Given the description of an element on the screen output the (x, y) to click on. 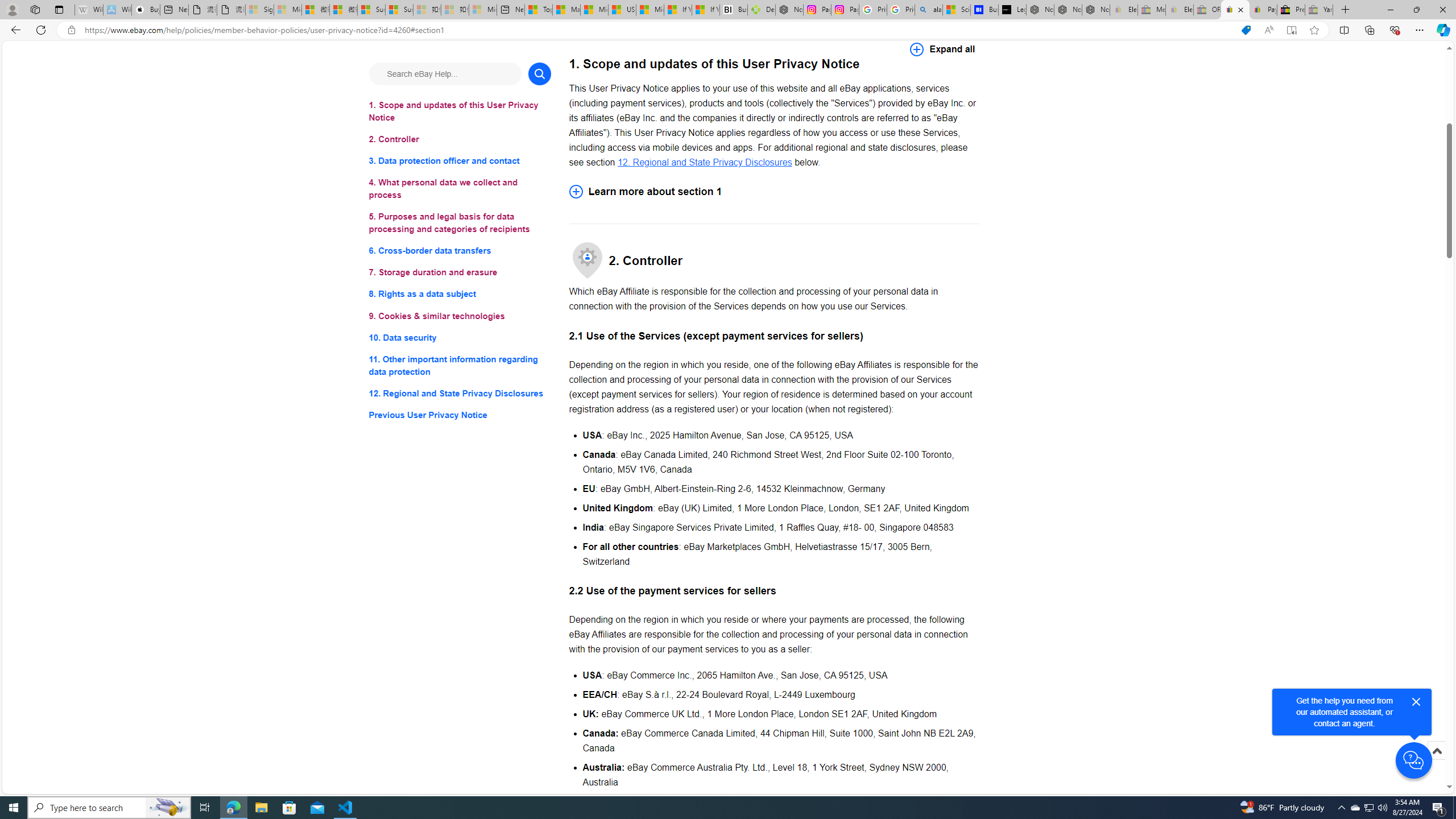
1. Scope and updates of this User Privacy Notice (459, 111)
10. Data security (459, 336)
Learn more about section 1 (774, 191)
US Heat Deaths Soared To Record High Last Year (621, 9)
12. Regional and State Privacy Disclosures (459, 392)
